Given the description of an element on the screen output the (x, y) to click on. 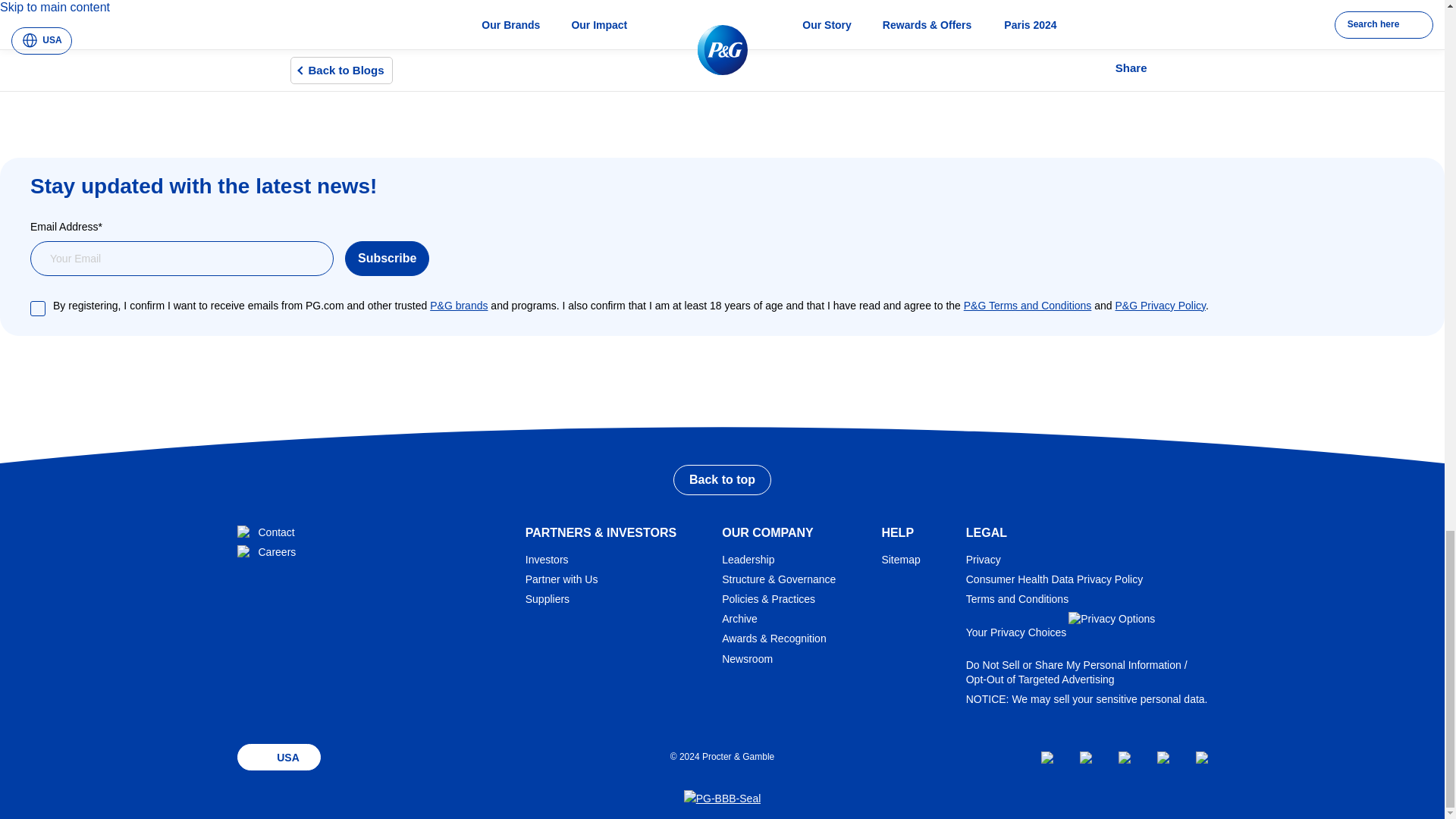
news.pg.com (756, 658)
Subscribe (387, 258)
www.pginvestor.com (555, 559)
www.pgconnectdevelop.com (570, 579)
www.pgcareers.com (274, 551)
